Given the description of an element on the screen output the (x, y) to click on. 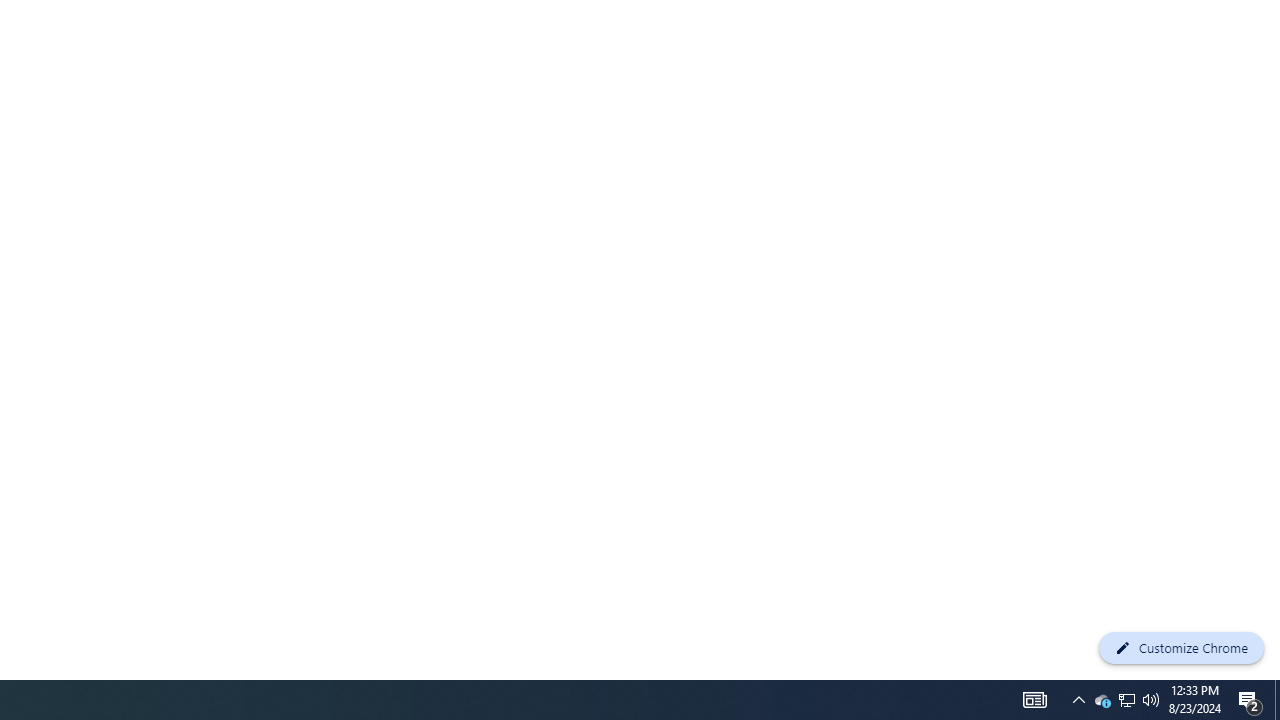
User Promoted Notification Area (1126, 699)
AutomationID: 4105 (1126, 699)
Q2790: 100% (1034, 699)
Notification Chevron (1151, 699)
Action Center, 2 new notifications (1102, 699)
Show desktop (1078, 699)
